Given the description of an element on the screen output the (x, y) to click on. 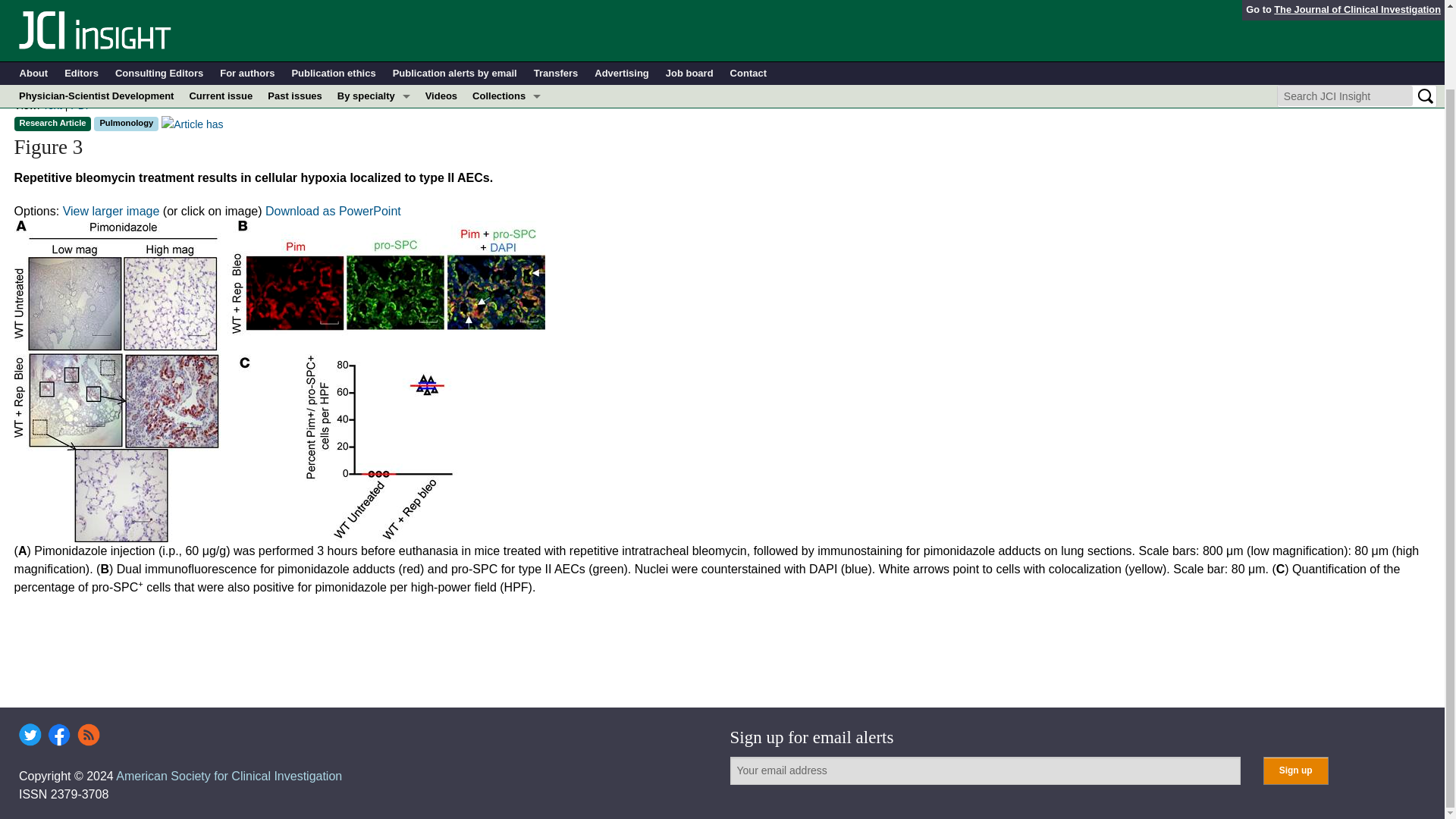
Immunology (373, 74)
Collections (506, 9)
Pulmonology (373, 165)
Cardiology (373, 51)
Past issues (295, 9)
Resource and Technical Advances (506, 51)
Facebook (58, 734)
Editorials (506, 97)
Clinical Medicine (506, 74)
Top read articles (506, 188)
By specialty (373, 9)
Current issue (220, 9)
Reviews (506, 165)
In-Press Preview (506, 29)
Twitter (30, 734)
